Given the description of an element on the screen output the (x, y) to click on. 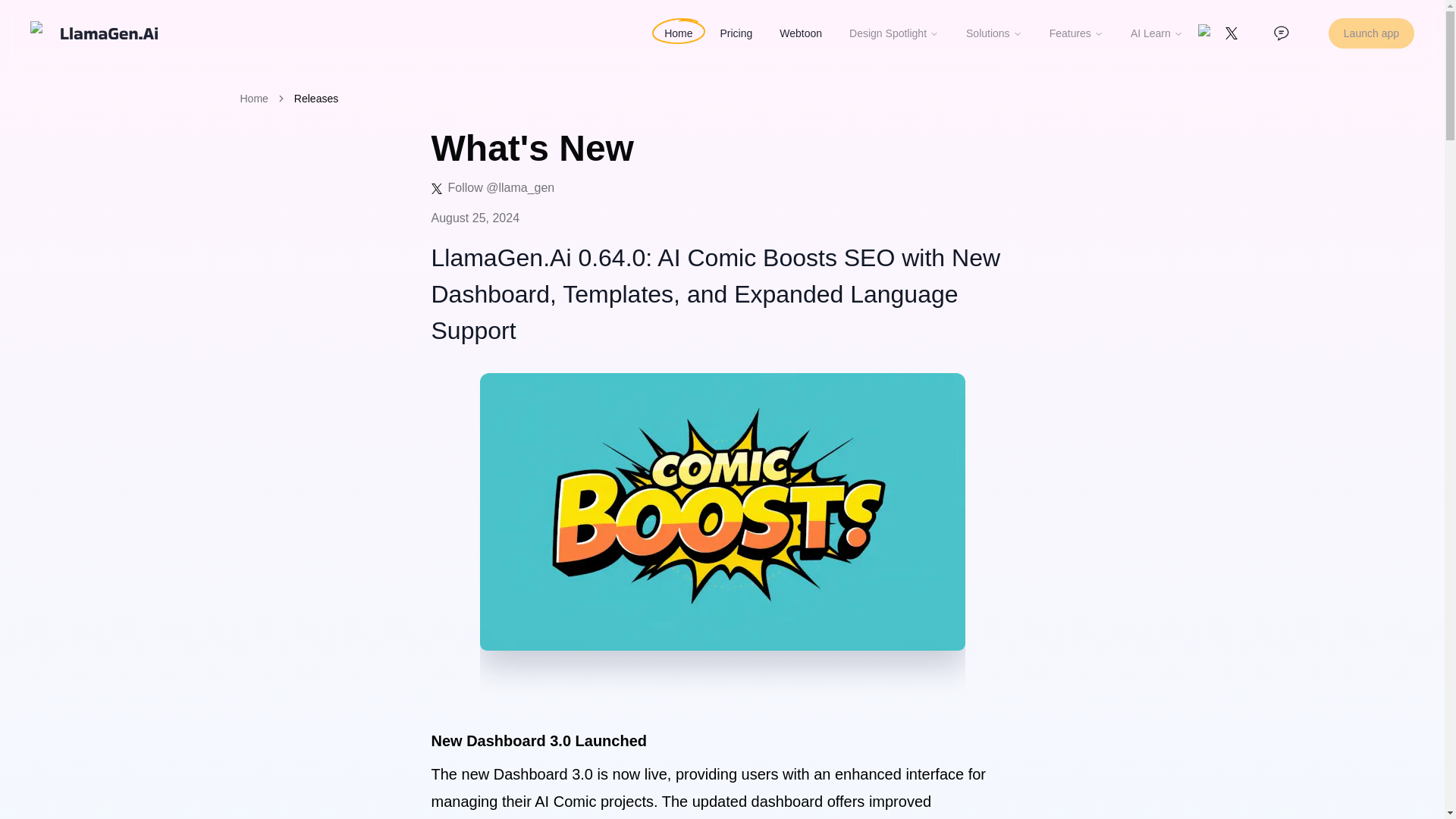
Webtoon (800, 33)
Solutions (993, 33)
Pricing (736, 33)
AI Learn (1156, 33)
Design Spotlight (893, 33)
Home (253, 98)
Home (678, 33)
Launch app (1370, 33)
Features (1075, 33)
